Given the description of an element on the screen output the (x, y) to click on. 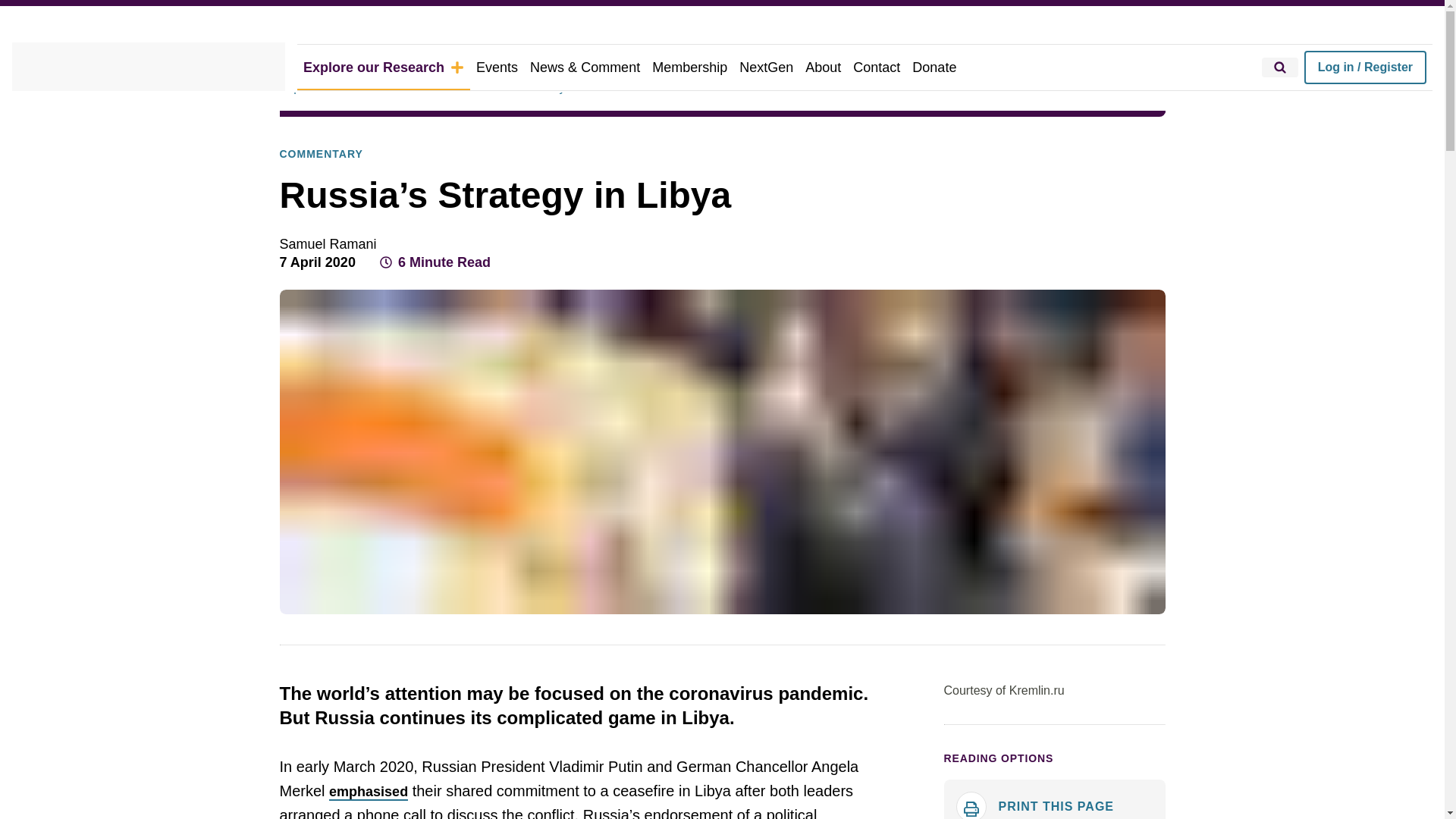
NextGen (766, 67)
emphasised (368, 791)
COMMENTARY (320, 154)
Explore our Research (383, 67)
About (823, 67)
Contact (876, 67)
Log in (1365, 67)
Events (497, 67)
Publications (447, 88)
Membership (689, 67)
